Given the description of an element on the screen output the (x, y) to click on. 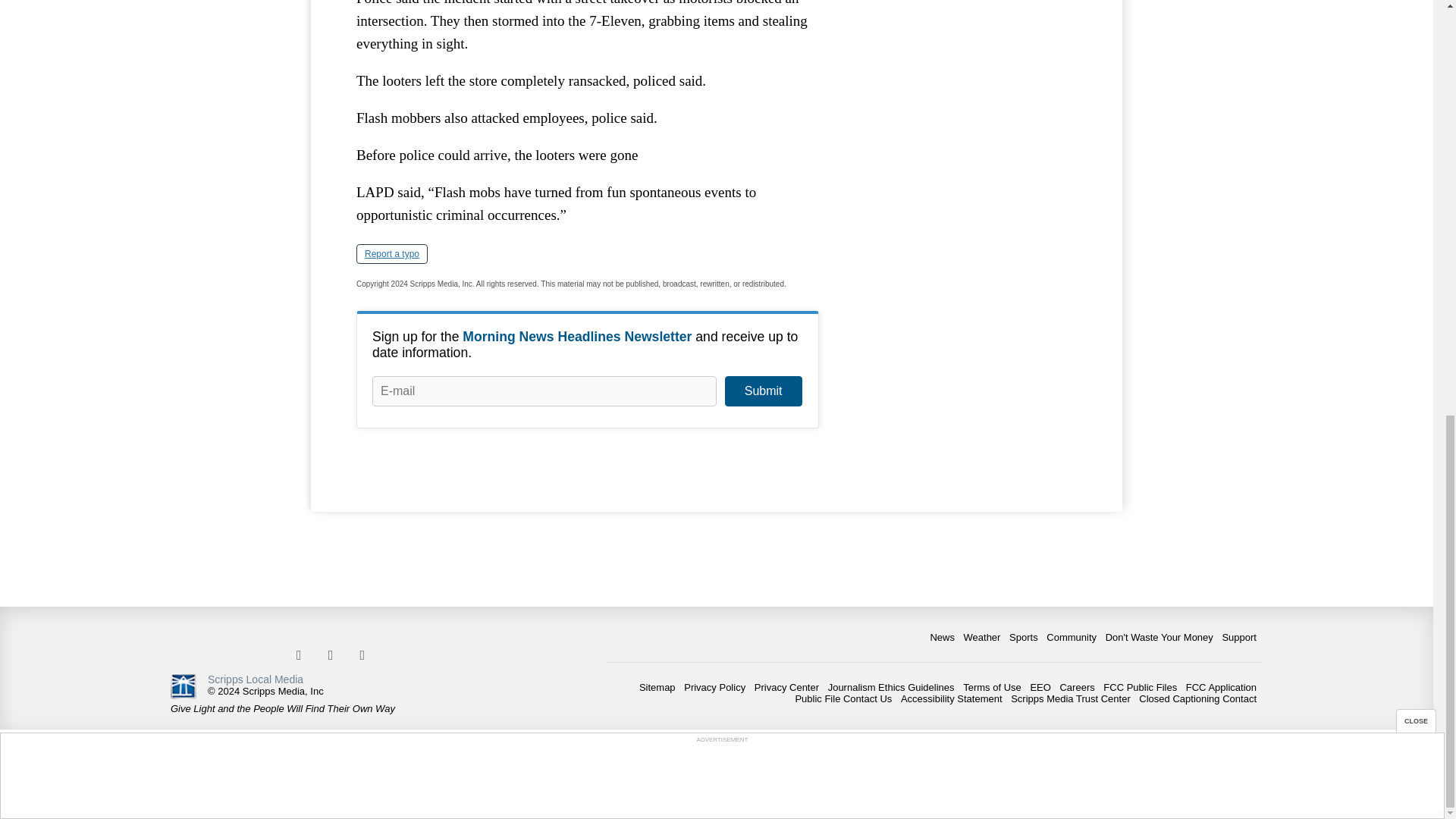
3rd party ad content (962, 39)
Submit (763, 390)
